Given the description of an element on the screen output the (x, y) to click on. 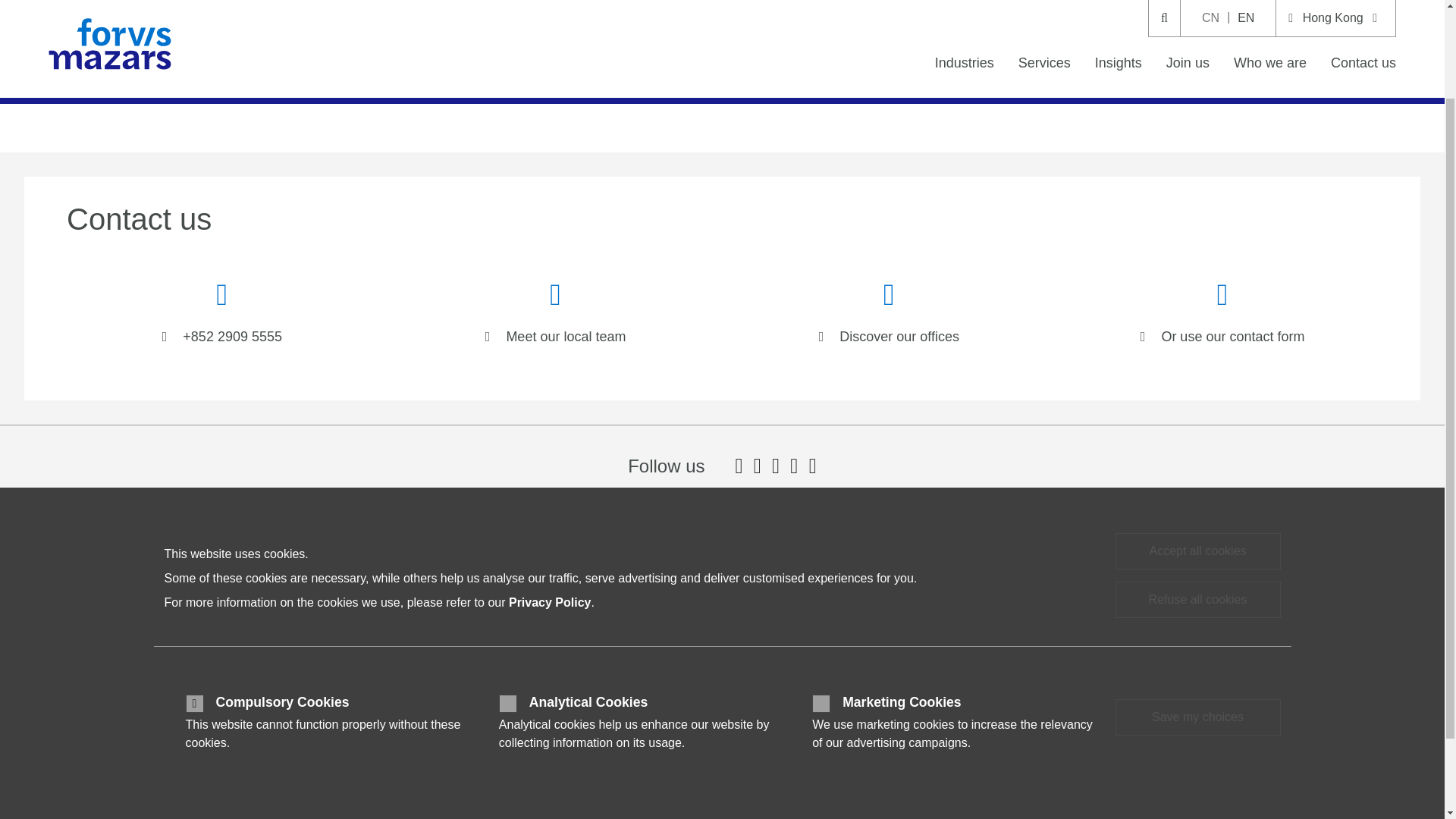
Share on LinkedIn (1336, 2)
